Given the description of an element on the screen output the (x, y) to click on. 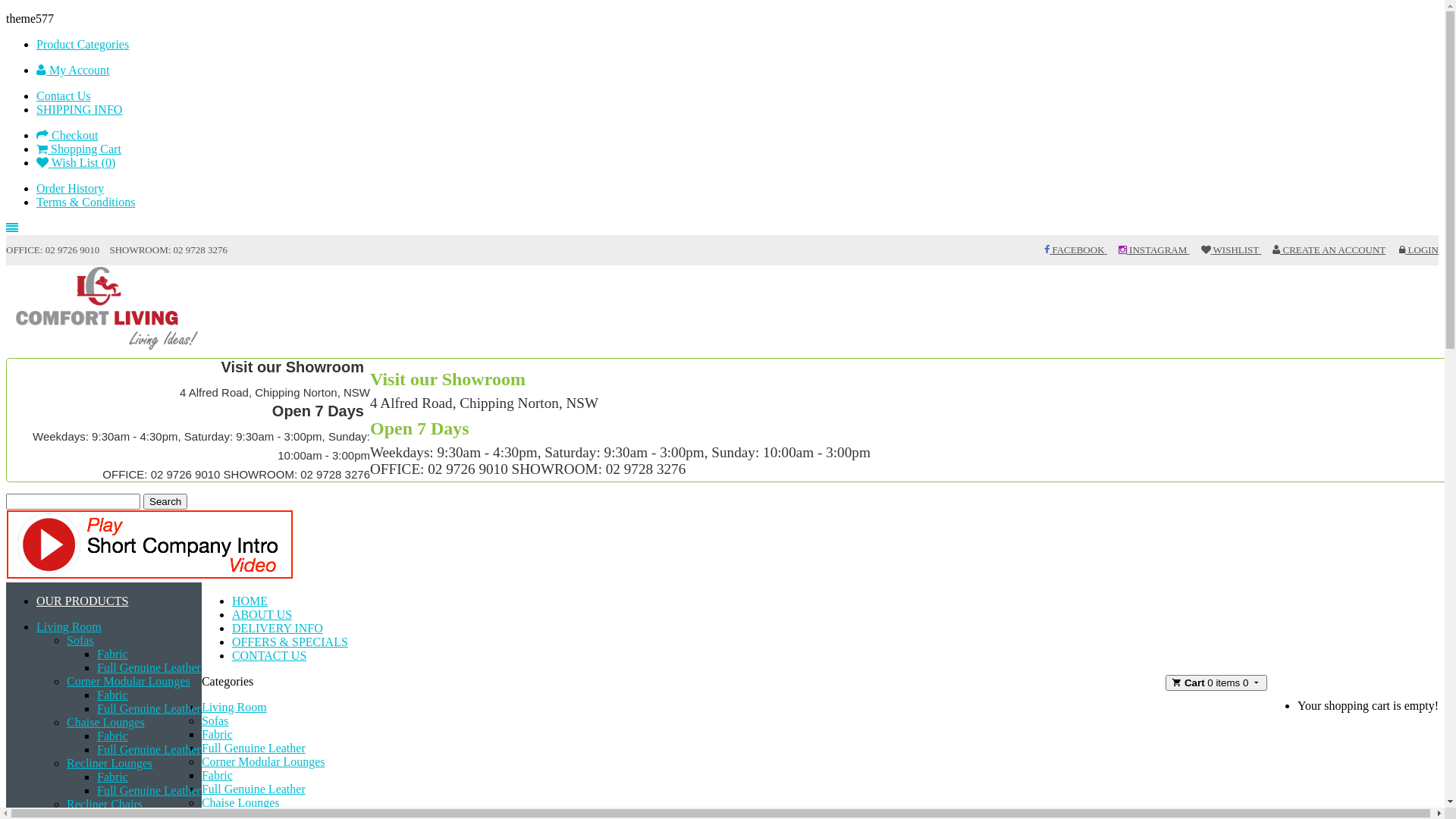
Full Genuine Leather Element type: text (253, 747)
My Account Element type: text (72, 69)
Corner Modular Lounges Element type: text (128, 680)
Cart 0 items 0 Element type: text (1216, 682)
INSTAGRAM Element type: text (1153, 249)
OUR PRODUCTS Element type: text (82, 600)
Contact Us Element type: text (63, 95)
HOME Element type: text (249, 600)
Living Room Element type: text (233, 706)
CREATE AN ACCOUNT Element type: text (1328, 249)
Recliner Lounges Element type: text (109, 762)
Chaise Lounges Element type: text (105, 721)
Search Element type: text (165, 501)
Full Genuine Leather Element type: text (148, 790)
Fabric Element type: text (112, 653)
Living Room Element type: text (68, 626)
Fabric Element type: text (112, 694)
Full Genuine Leather Element type: text (148, 708)
Fabric Element type: text (112, 735)
Chaise Lounges Element type: text (240, 802)
Wish List (0) Element type: text (75, 162)
Comfort Living Element type: hover (108, 309)
DELIVERY INFO Element type: text (277, 627)
Sofas Element type: text (80, 639)
Full Genuine Leather Element type: text (253, 788)
Fabric Element type: text (112, 776)
Corner Modular Lounges Element type: text (263, 761)
Full Genuine Leather Element type: text (148, 667)
SHIPPING INFO Element type: text (79, 109)
CONTACT US Element type: text (269, 655)
Full Genuine Leather Element type: text (148, 749)
Shopping Cart Element type: text (78, 148)
LOGIN Element type: text (1418, 249)
WISHLIST Element type: text (1231, 249)
Sofas Element type: text (215, 720)
Checkout Element type: text (66, 134)
Recliner Chairs Element type: text (104, 803)
Product Categories Element type: text (82, 43)
OFFERS & SPECIALS Element type: text (290, 641)
Order History Element type: text (69, 188)
Fabric Element type: text (216, 734)
Terms & Conditions Element type: text (85, 201)
ABOUT US Element type: text (261, 614)
FACEBOOK Element type: text (1075, 249)
Fabric Element type: text (216, 774)
